Given the description of an element on the screen output the (x, y) to click on. 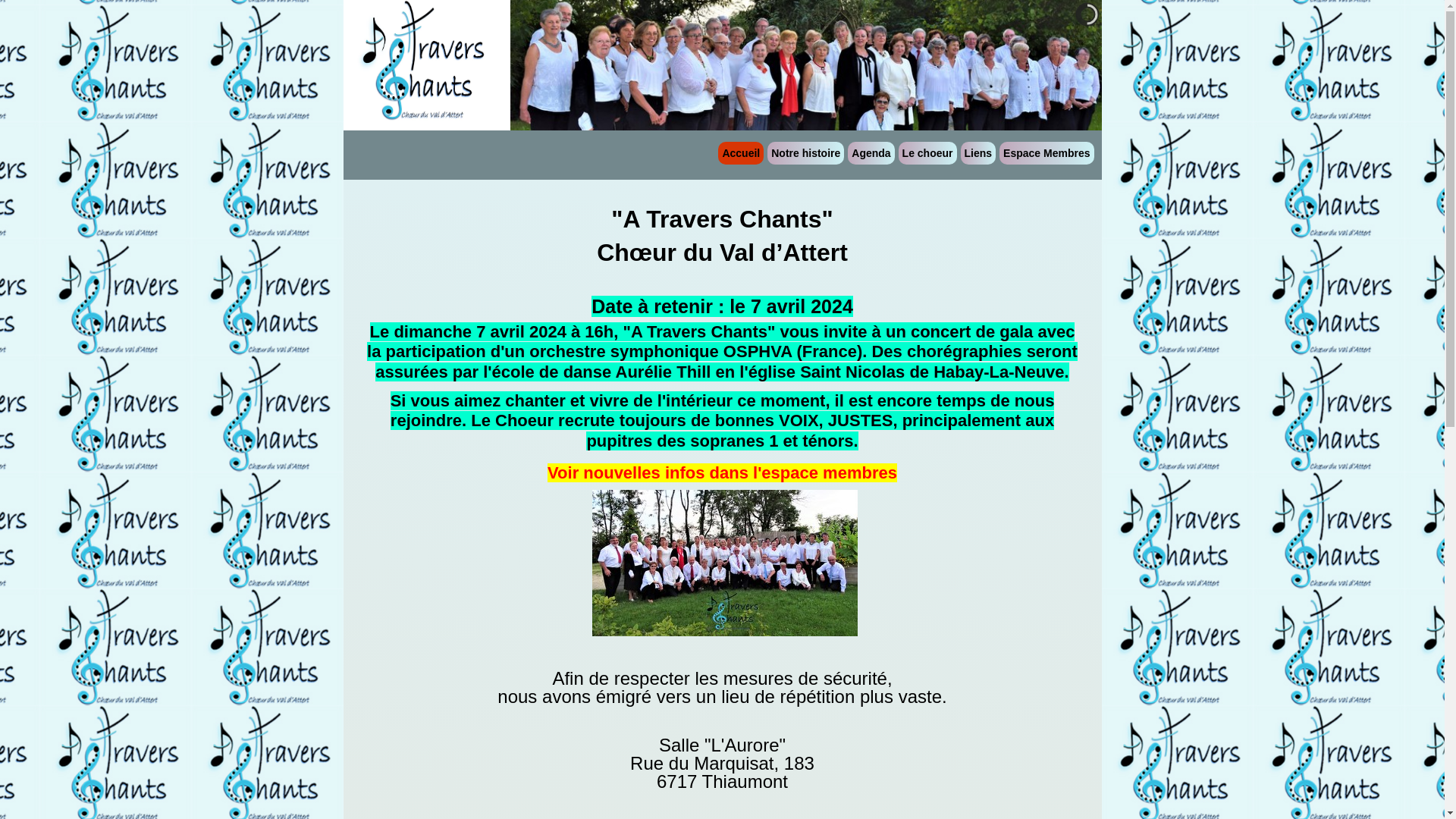
Agenda Element type: text (870, 152)
Espace Membres Element type: text (1046, 152)
Notre histoire Element type: text (805, 152)
Le choeur Element type: text (927, 152)
Liens Element type: text (978, 152)
Accueil Element type: text (740, 152)
